Given the description of an element on the screen output the (x, y) to click on. 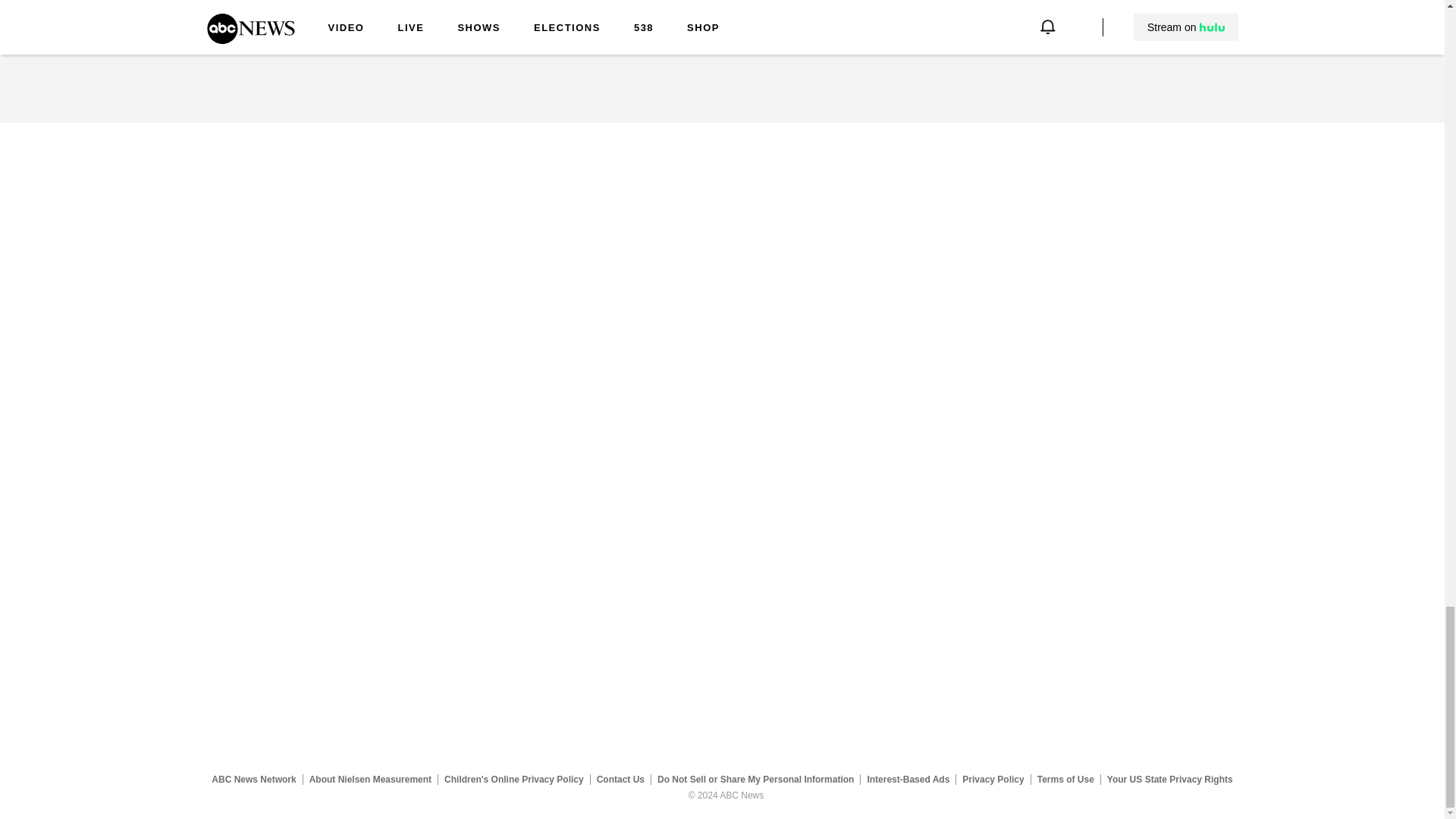
ABC News Network (253, 778)
Privacy Policy (993, 778)
Your US State Privacy Rights (1169, 778)
Interest-Based Ads (908, 778)
Contact Us (620, 778)
Terms of Use (1065, 778)
Do Not Sell or Share My Personal Information (755, 778)
About Nielsen Measurement (370, 778)
Children's Online Privacy Policy (514, 778)
